Given the description of an element on the screen output the (x, y) to click on. 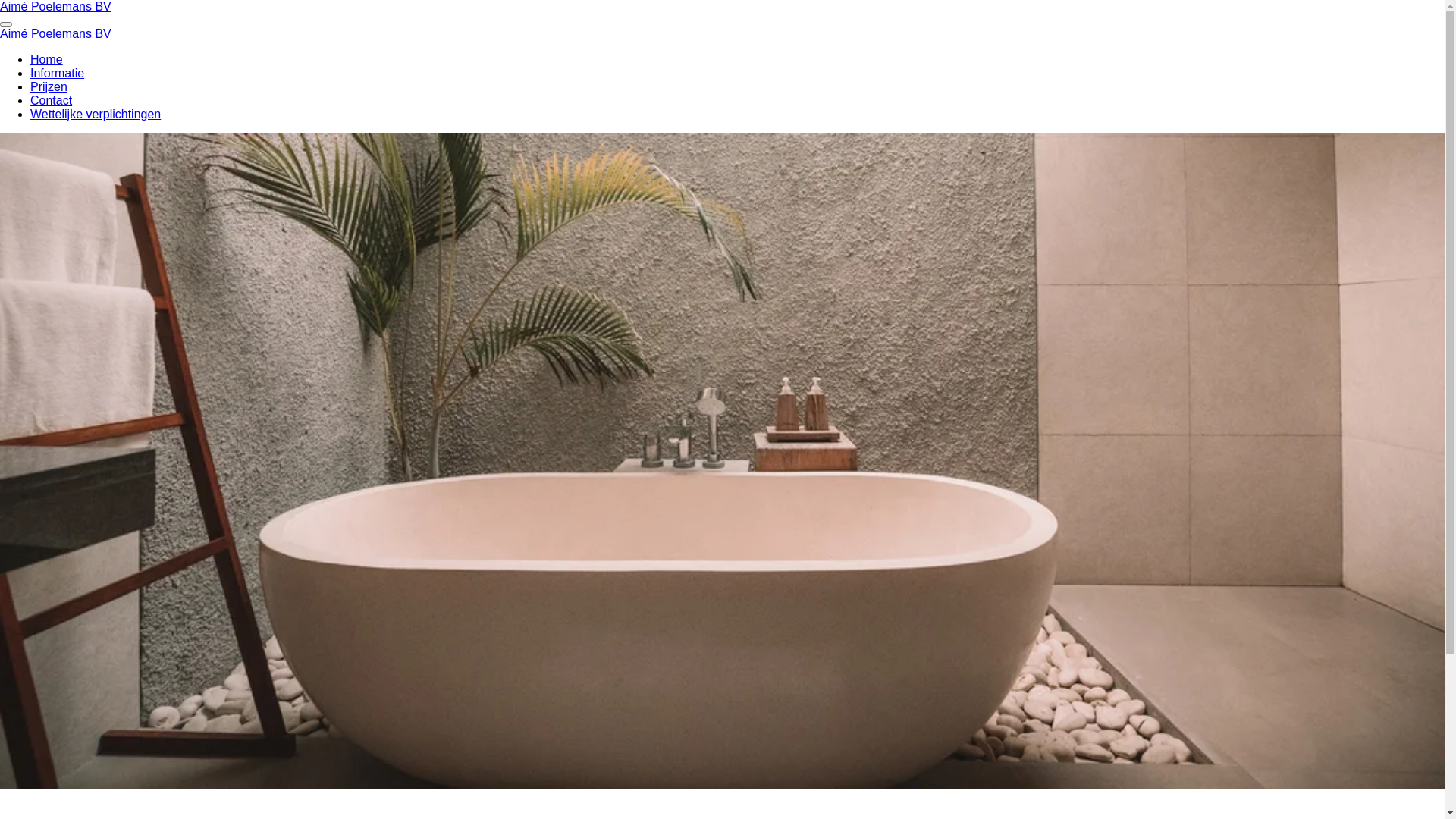
Wettelijke verplichtingen Element type: text (95, 113)
Prijzen Element type: text (48, 86)
Contact Element type: text (51, 100)
Informatie Element type: text (57, 72)
Home Element type: text (46, 59)
